Given the description of an element on the screen output the (x, y) to click on. 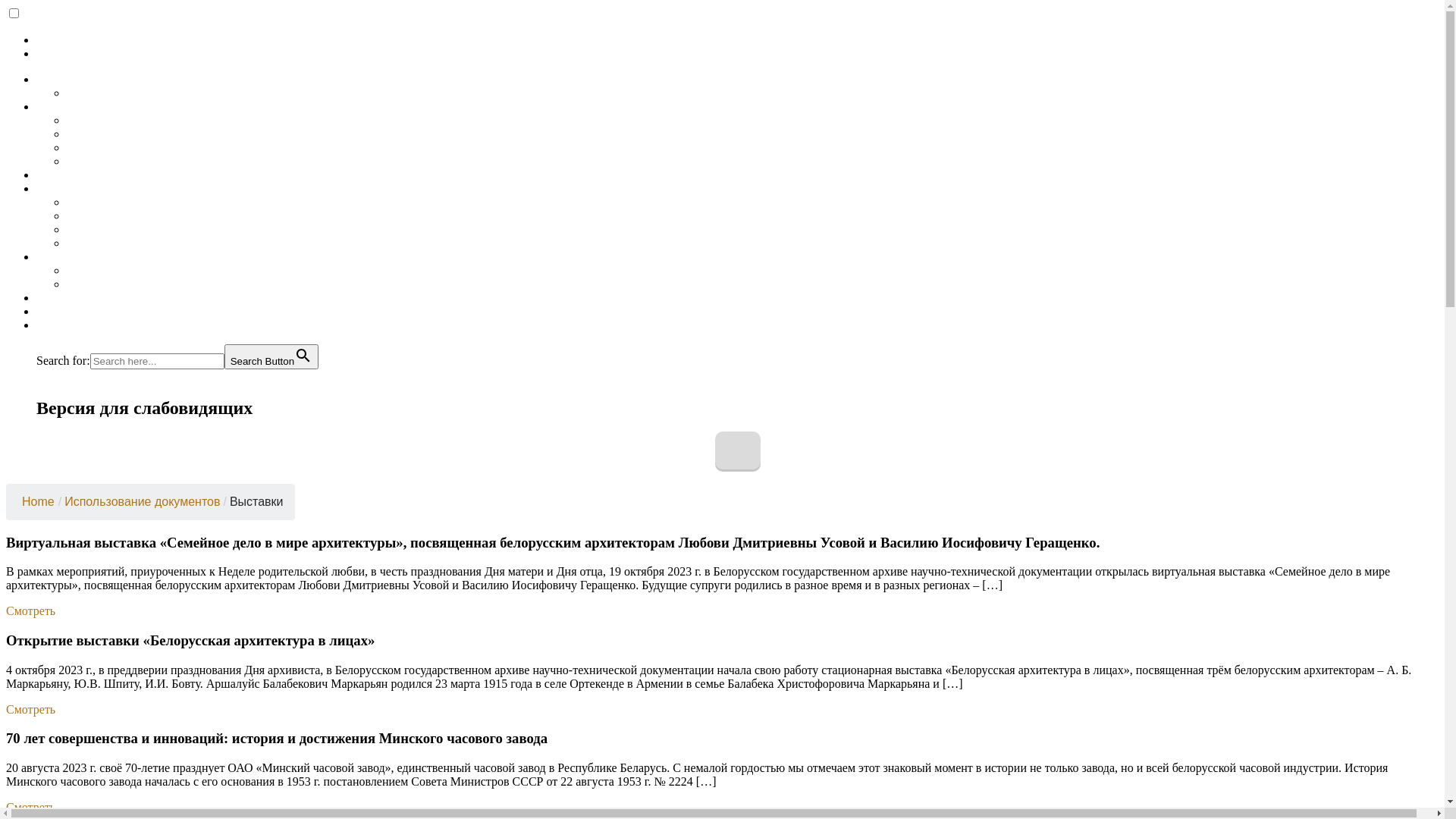
Search Button Element type: text (271, 356)
Home Element type: text (36, 501)
RUS Element type: text (47, 375)
